Given the description of an element on the screen output the (x, y) to click on. 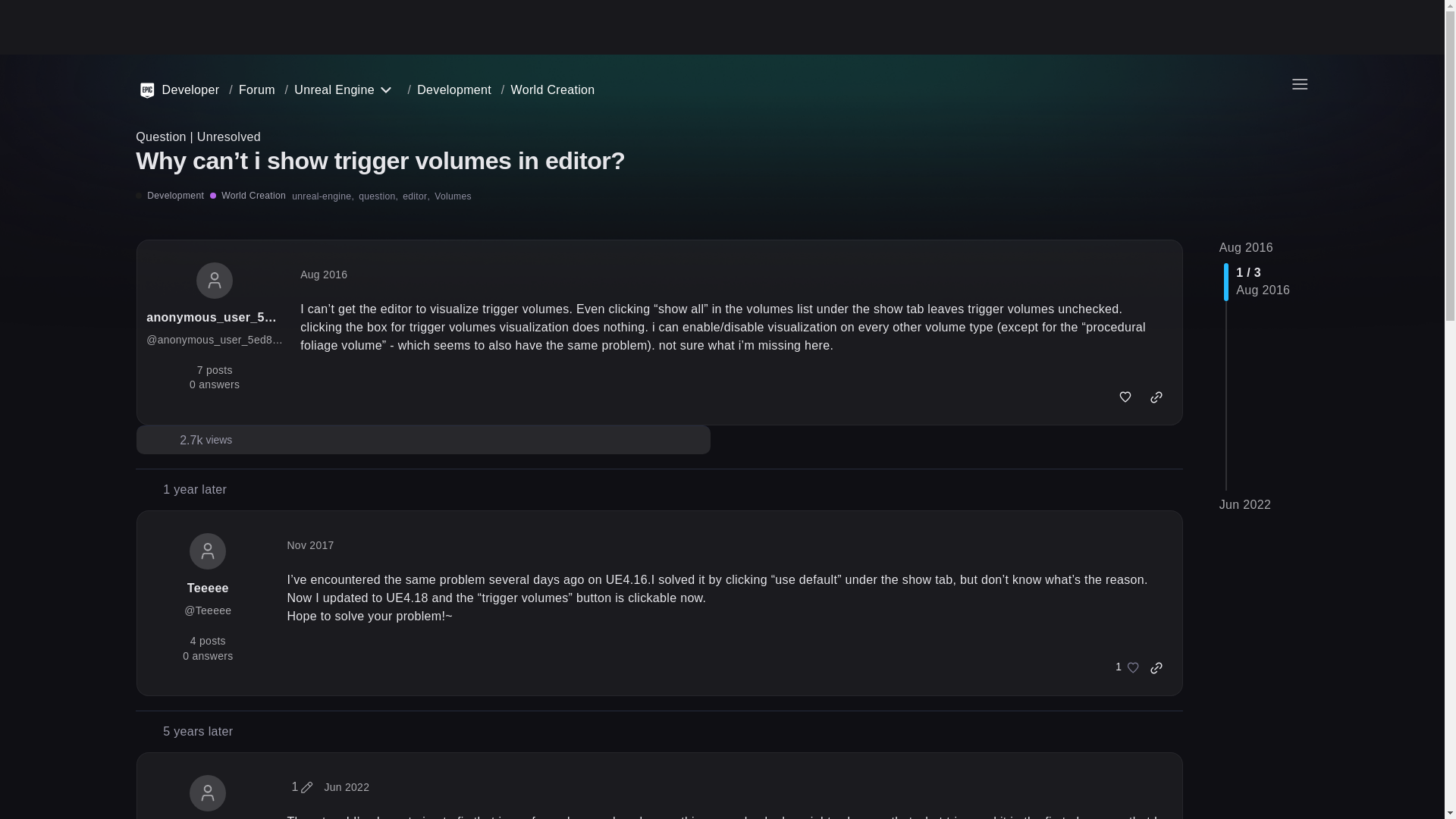
Post date (323, 274)
Post date (309, 544)
Jun 2022 (1245, 504)
unreal-engine (322, 196)
Developer (179, 89)
Nov 2017 (309, 544)
Aug 2016 (323, 274)
1 person liked this post (1123, 668)
menu (1299, 83)
World Creation (553, 89)
